Given the description of an element on the screen output the (x, y) to click on. 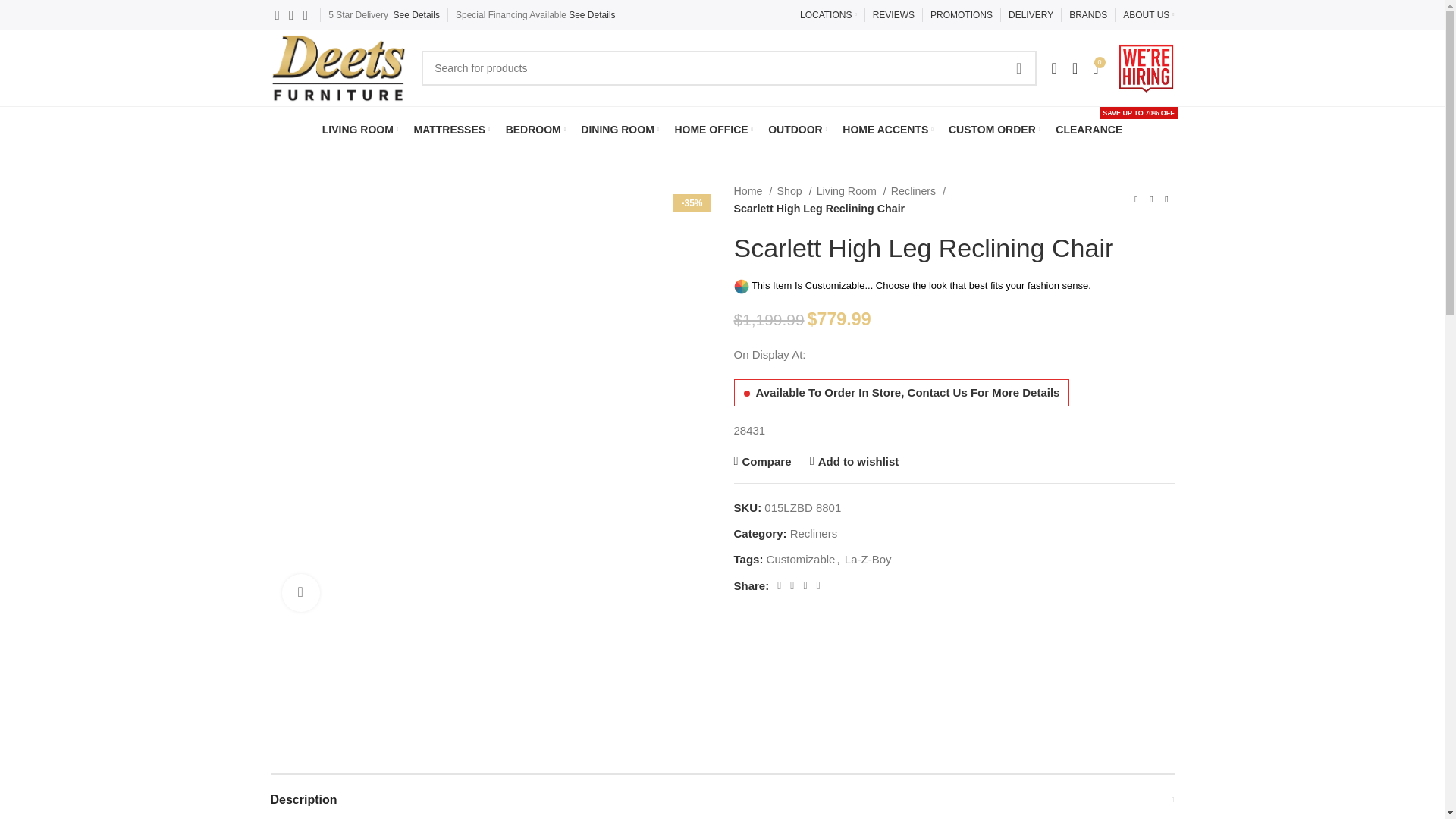
PROMOTIONS (961, 15)
ABOUT US (1147, 15)
We're Hiring (1146, 68)
Search for products (728, 67)
BRANDS (1087, 15)
Log in (931, 331)
DELIVERY (1030, 15)
REVIEWS (893, 15)
LOCATIONS (828, 15)
